Given the description of an element on the screen output the (x, y) to click on. 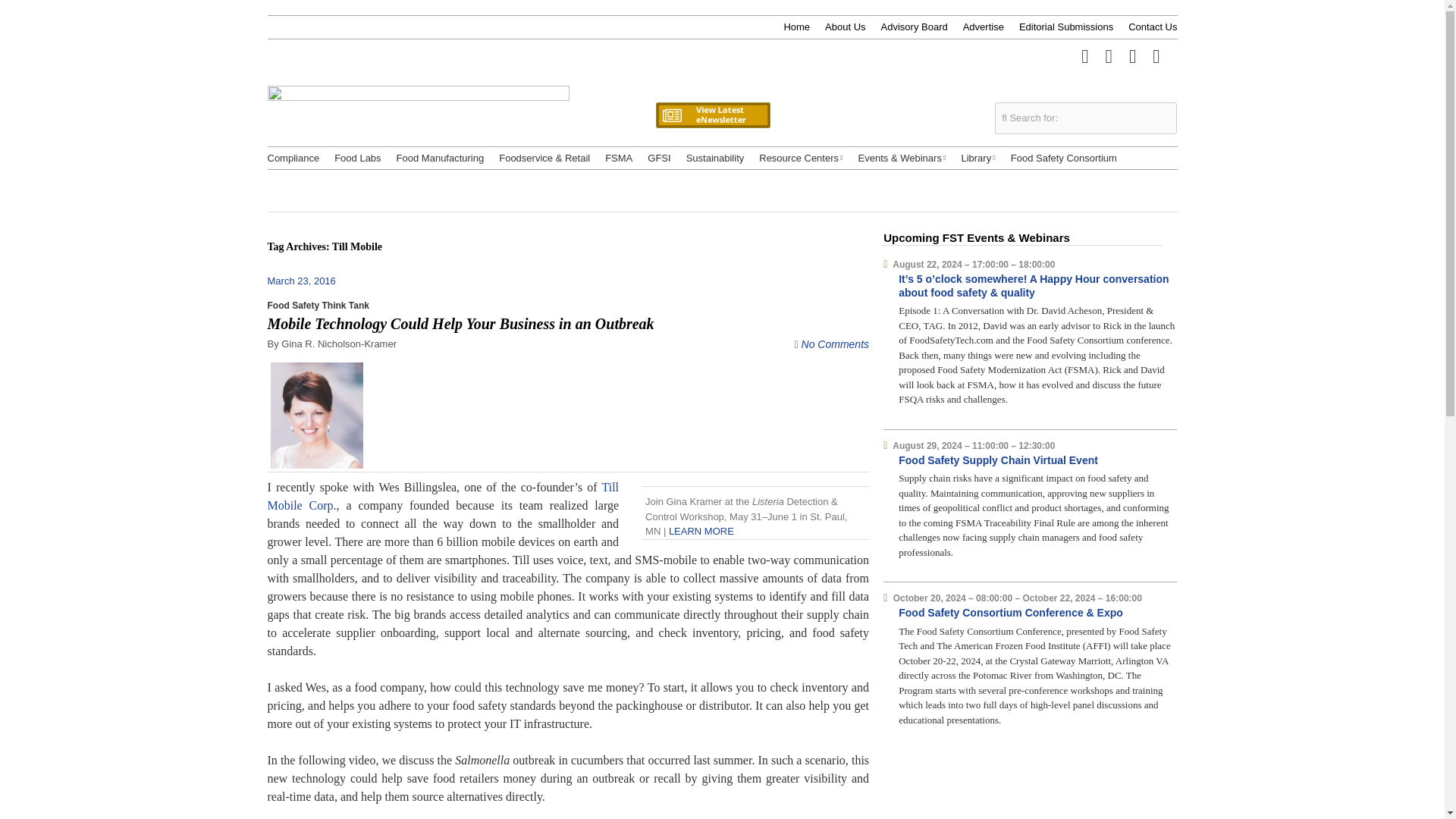
Connect with me on LinkedIn (1132, 55)
View The Latest Newsletter (712, 114)
Resource Centers (800, 157)
Get The Newsletter! (712, 78)
Contact Us (1152, 27)
Editorial Submissions (1066, 27)
Get The Newsletter! (712, 78)
Subscribe to my RSS Feed (1156, 55)
Library (977, 157)
